Given the description of an element on the screen output the (x, y) to click on. 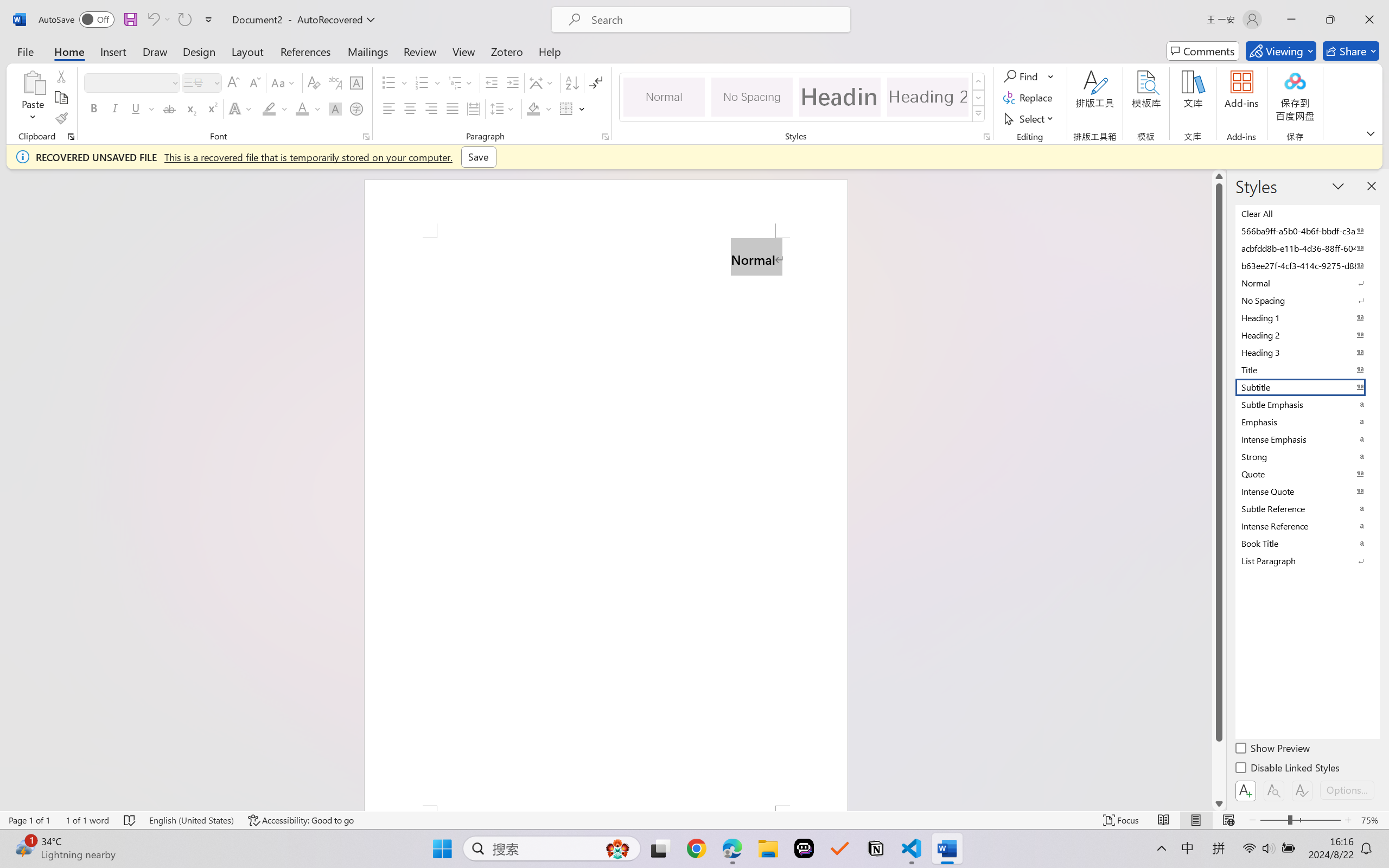
Paragraph... (605, 136)
Subscript (190, 108)
acbfdd8b-e11b-4d36-88ff-6049b138f862 (1306, 247)
Line up (1219, 176)
Open (215, 82)
Sort... (571, 82)
Quote (1306, 473)
Title (1306, 369)
Increase Indent (512, 82)
